Given the description of an element on the screen output the (x, y) to click on. 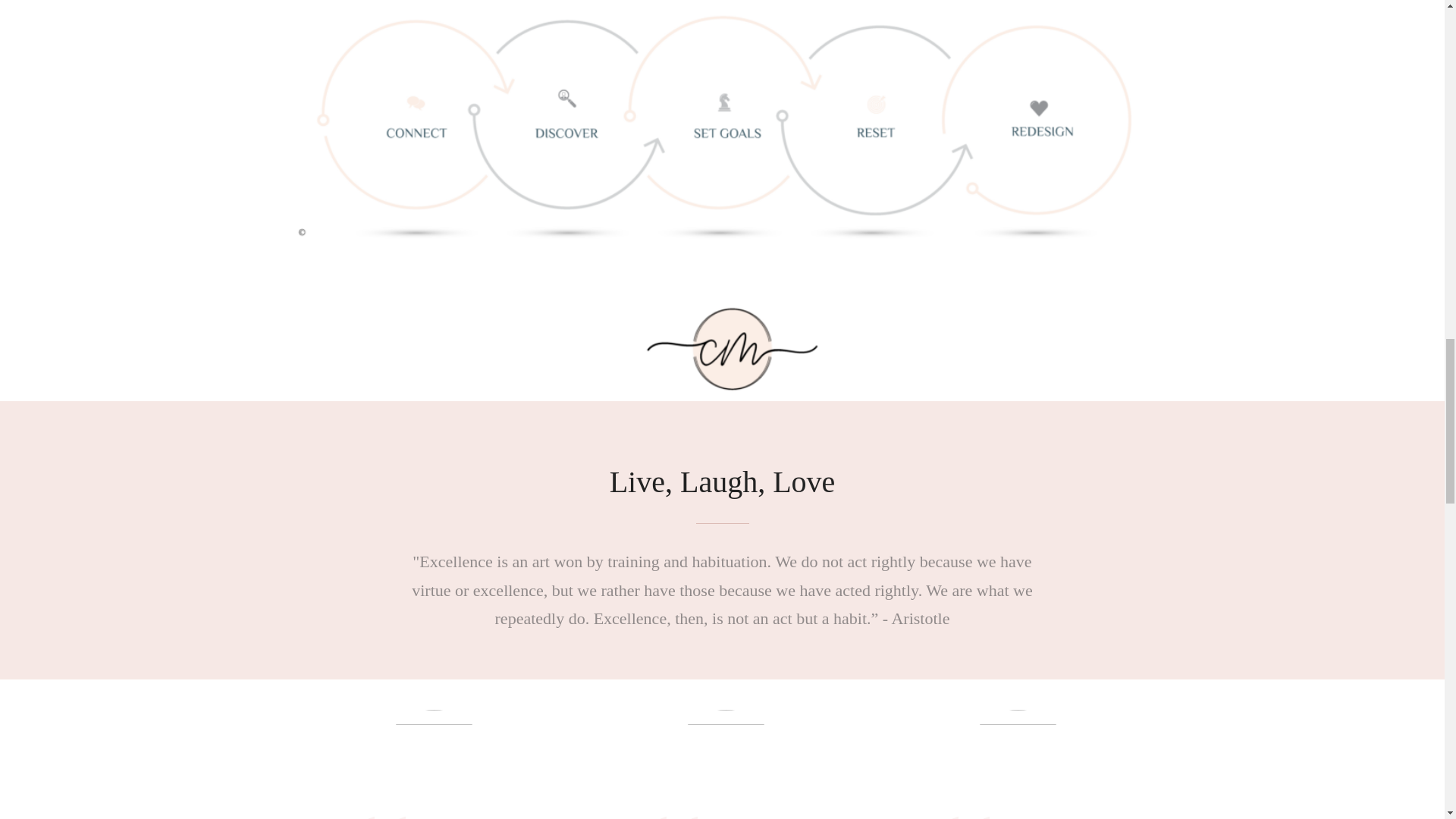
Rachel Nagel (433, 764)
Sarah Nank (1017, 764)
Marnie Binder (726, 764)
